Given the description of an element on the screen output the (x, y) to click on. 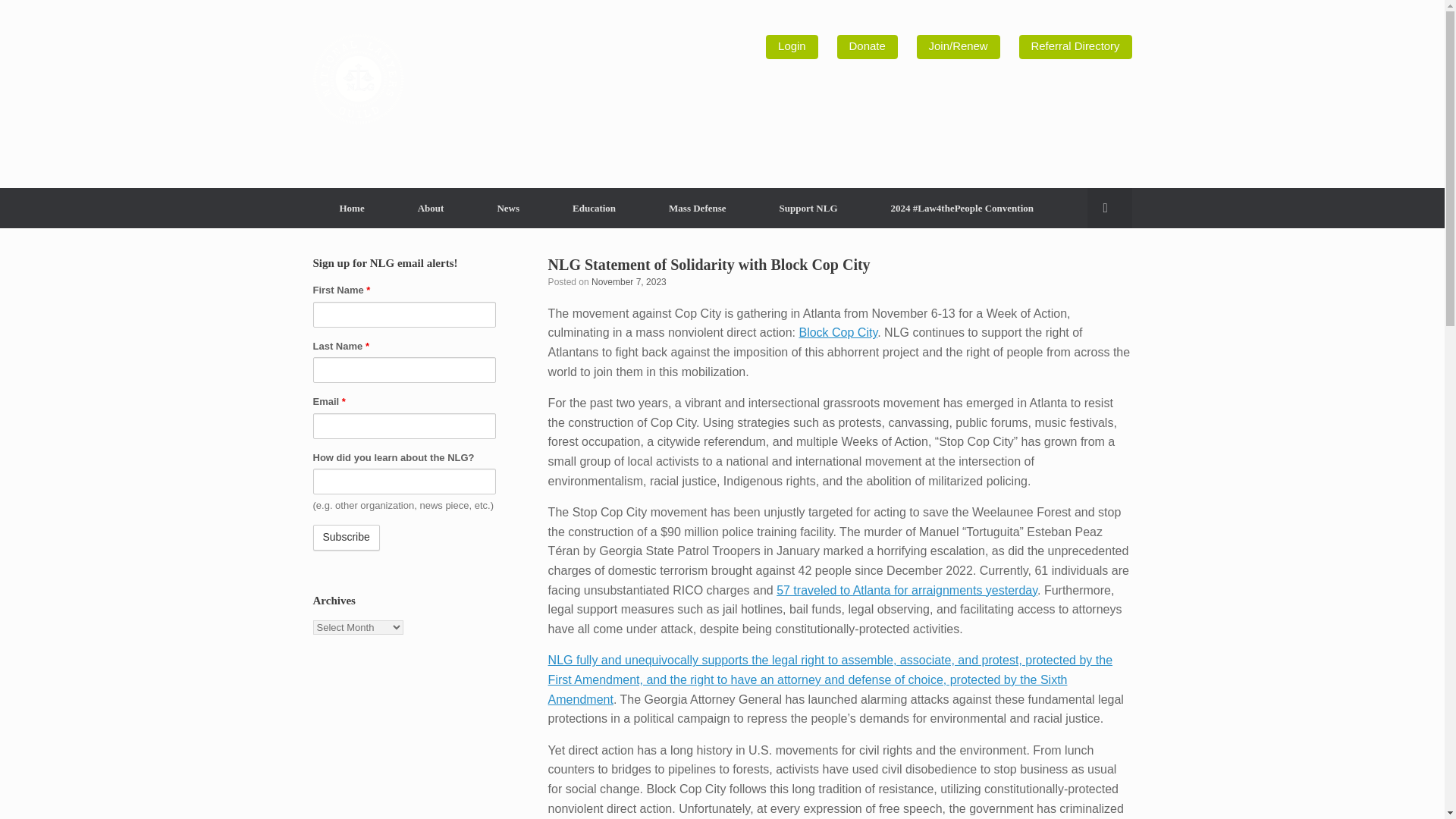
News (508, 208)
National Lawyers Guild (358, 79)
Education (594, 208)
Login (790, 46)
11:52 am (628, 281)
About (430, 208)
Donate (867, 46)
Subscribe (345, 537)
Referral Directory (1075, 46)
Home (351, 208)
